Given the description of an element on the screen output the (x, y) to click on. 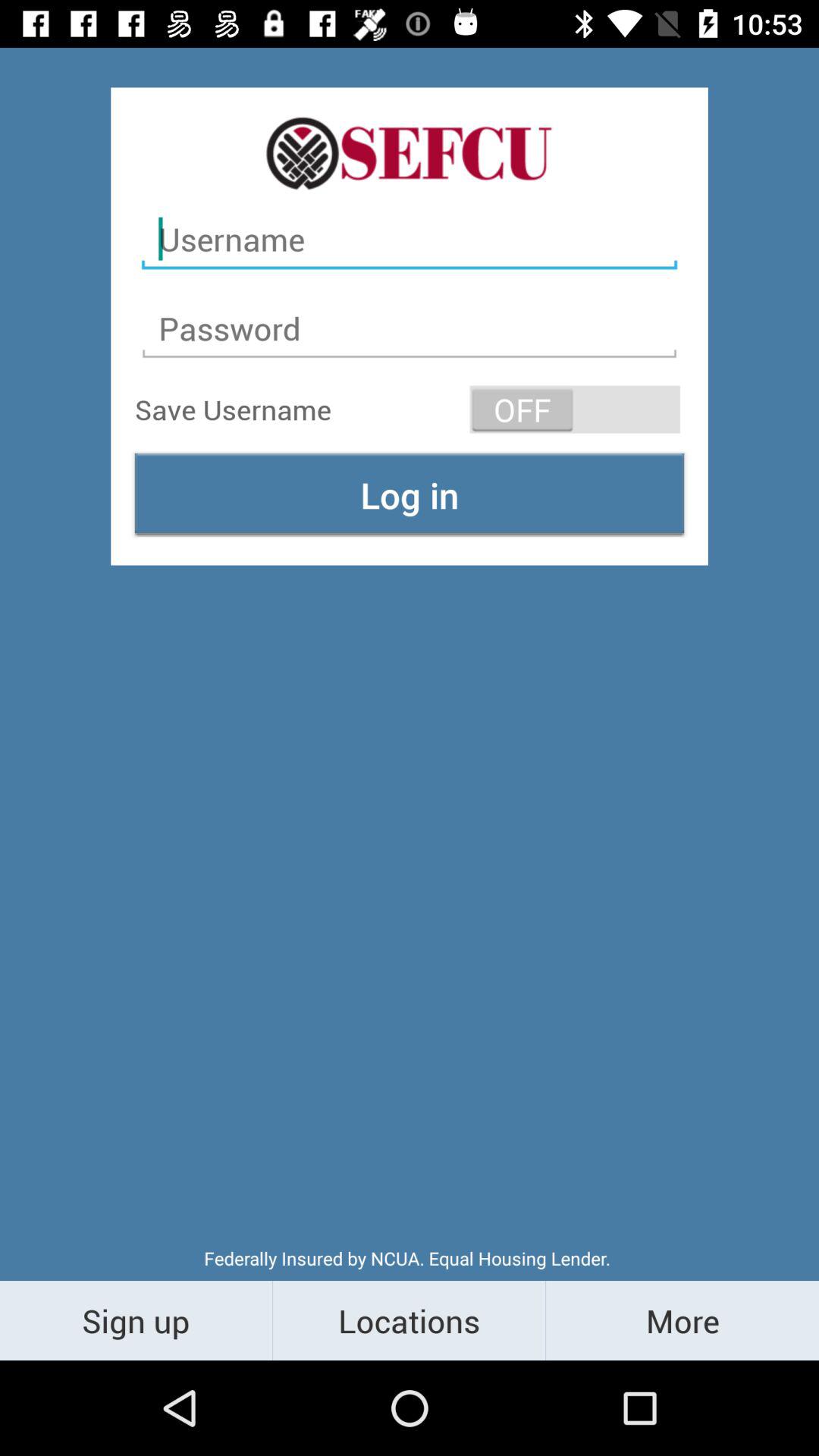
open the item above log in icon (574, 409)
